Given the description of an element on the screen output the (x, y) to click on. 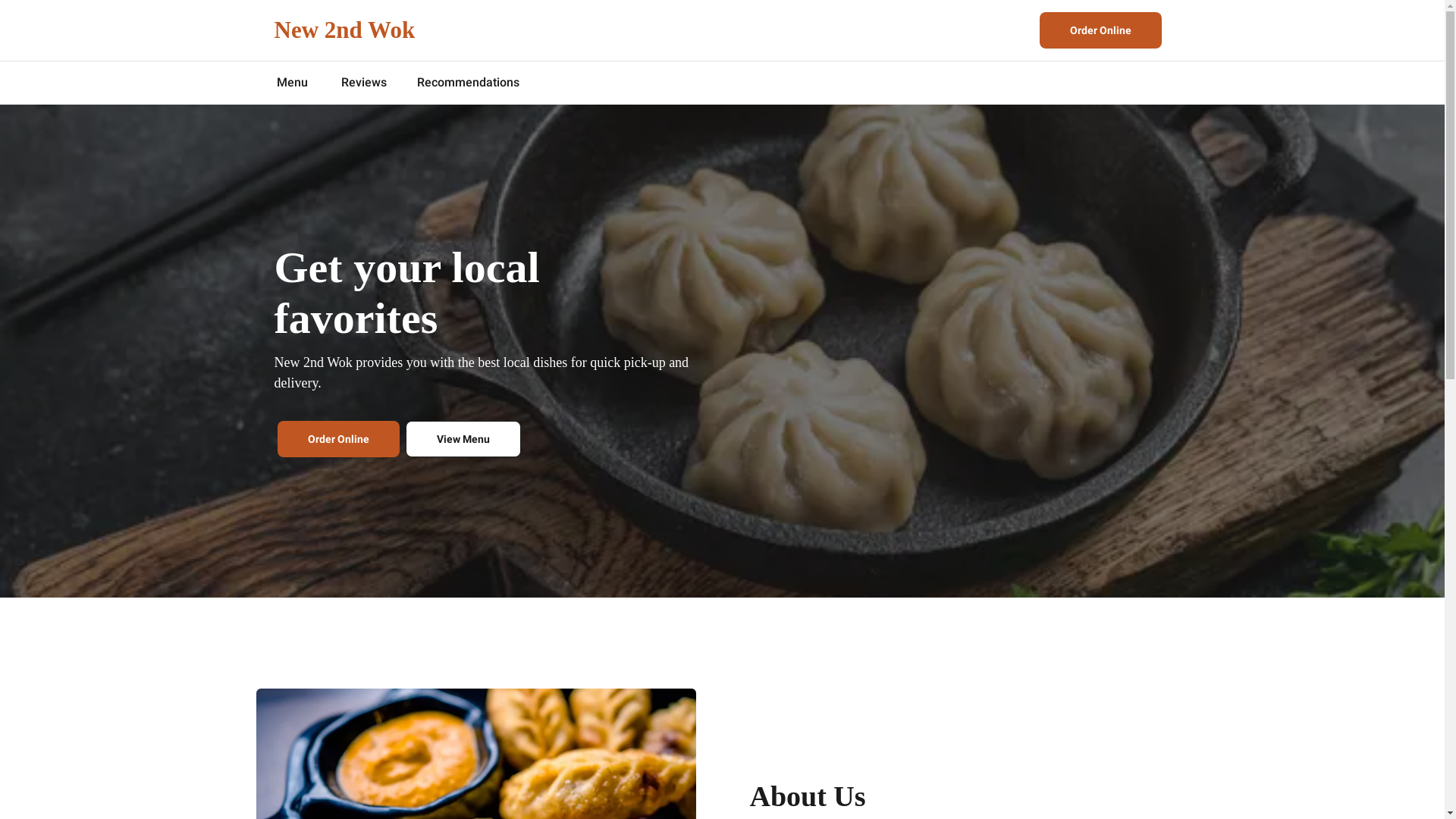
Order Online Element type: text (1099, 30)
Reviews Element type: text (363, 82)
New 2nd Wok Element type: text (344, 29)
Menu Element type: text (292, 82)
Recommendations Element type: text (468, 82)
Recommendations Element type: text (468, 82)
Order Online Element type: text (338, 438)
Reviews Element type: text (363, 82)
View Menu Element type: text (462, 438)
Menu Element type: text (292, 82)
